Given the description of an element on the screen output the (x, y) to click on. 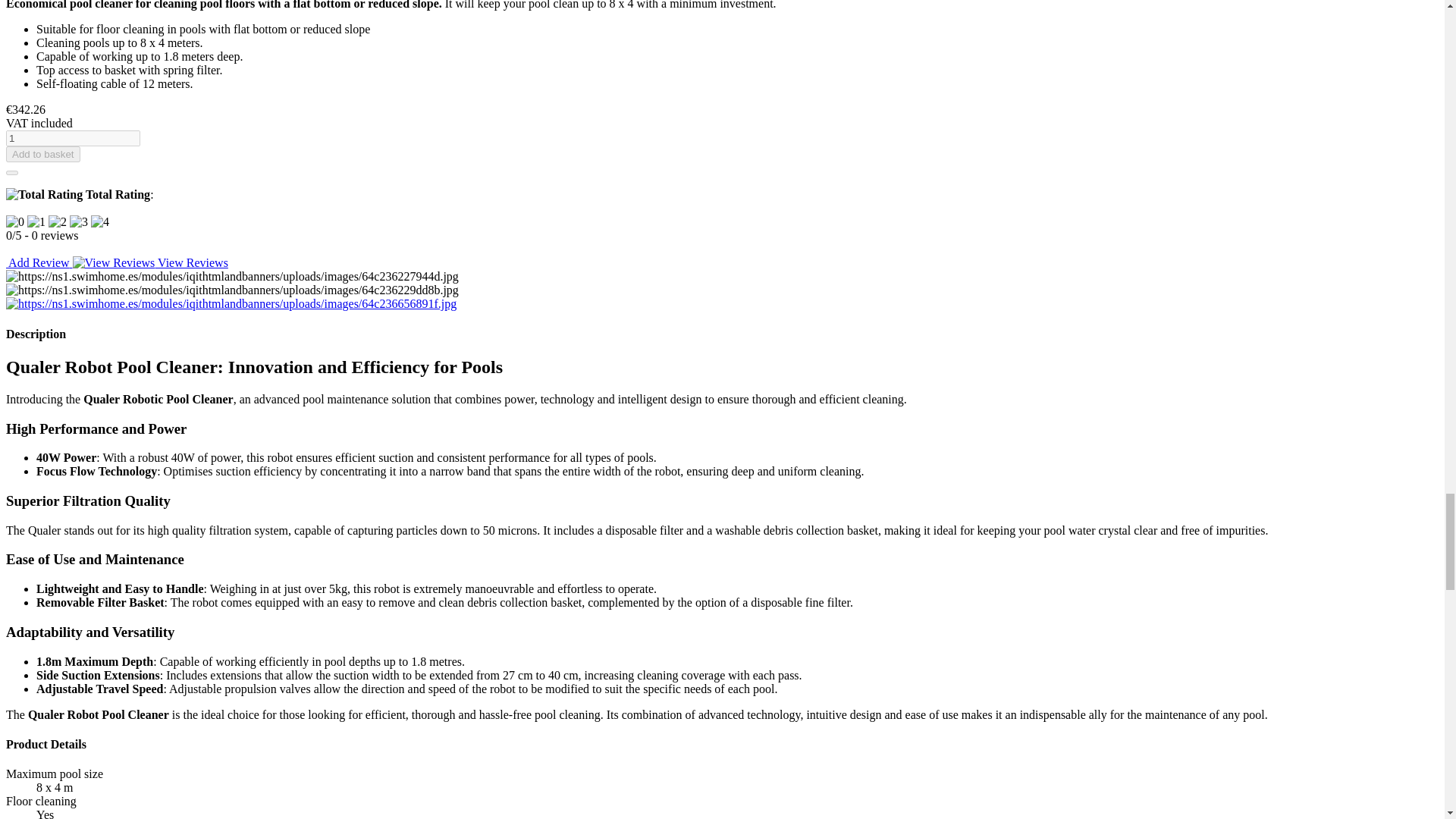
Add to wishlist (11, 172)
1 (72, 138)
